Given the description of an element on the screen output the (x, y) to click on. 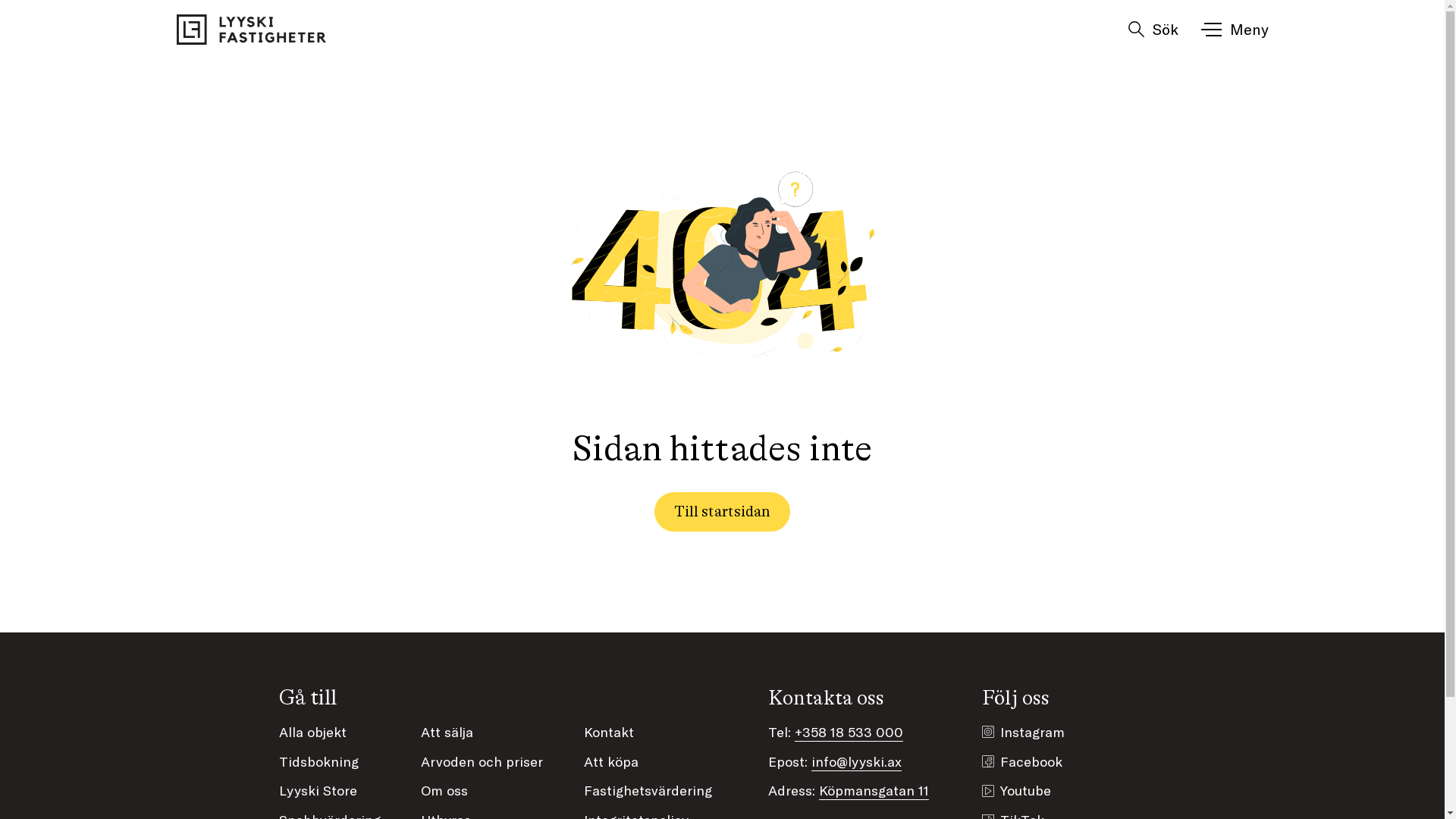
+358 18 533 000 Element type: text (848, 731)
Youtube Element type: text (1025, 790)
Facebook Element type: text (1031, 761)
info@lyyski.ax Element type: text (856, 761)
Instagram Element type: text (1032, 731)
Kontakt Element type: text (608, 731)
Tidsbokning Element type: text (318, 761)
Meny Element type: text (1236, 31)
Lyyski Fastigheter Element type: text (251, 29)
Lyyski Store Element type: text (318, 789)
Alla objekt Element type: text (312, 731)
Arvoden och priser Element type: text (481, 761)
Till startsidan Element type: text (722, 511)
Om oss Element type: text (443, 789)
